Given the description of an element on the screen output the (x, y) to click on. 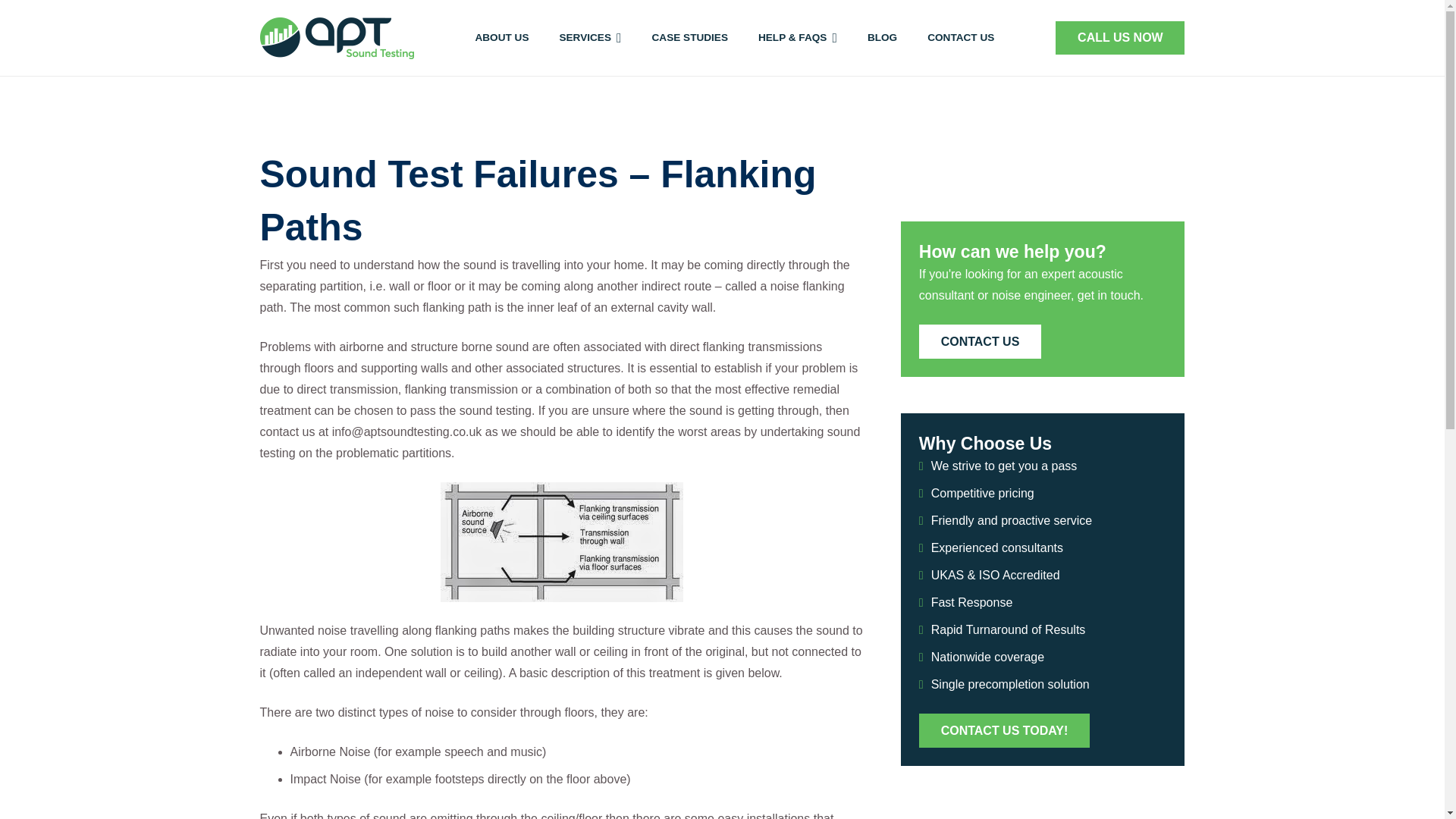
CONTACT US (979, 341)
CONTACT US TODAY! (1003, 730)
CALL US NOW (1120, 38)
CASE STUDIES (689, 38)
ABOUT US (501, 38)
CONTACT US (960, 38)
SERVICES (589, 38)
